Given the description of an element on the screen output the (x, y) to click on. 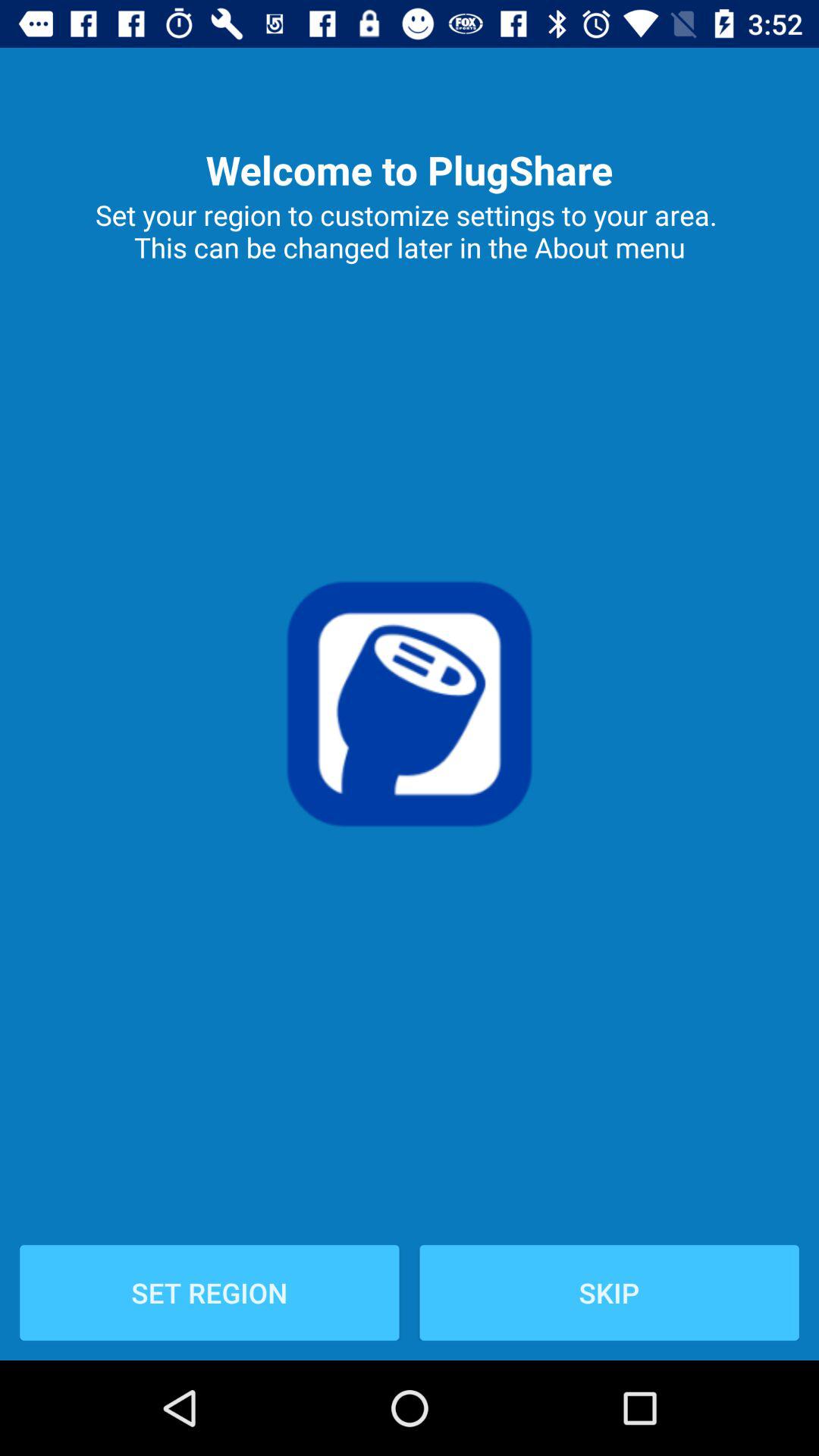
select skip icon (609, 1292)
